Given the description of an element on the screen output the (x, y) to click on. 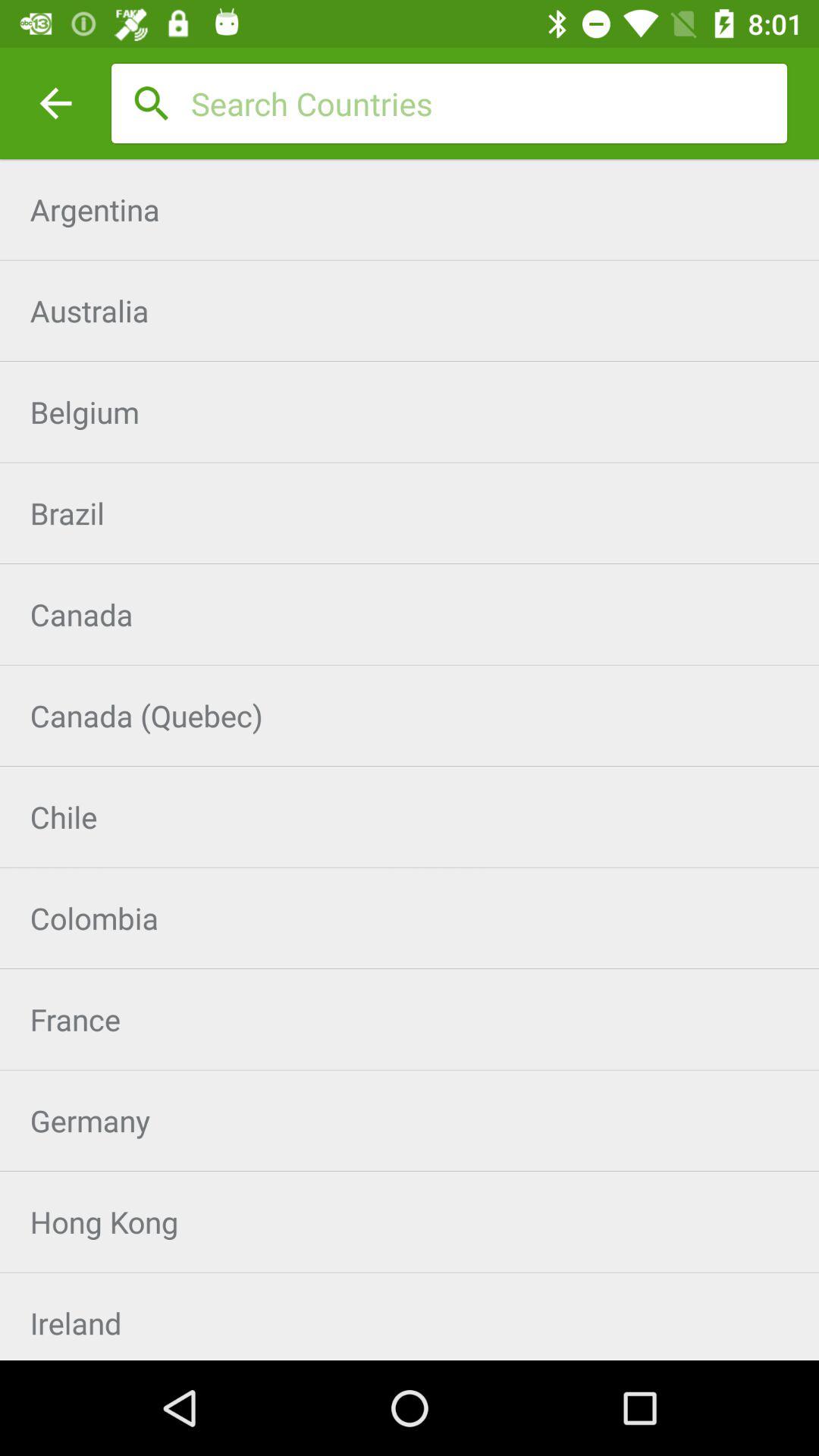
swipe to france (409, 1019)
